Given the description of an element on the screen output the (x, y) to click on. 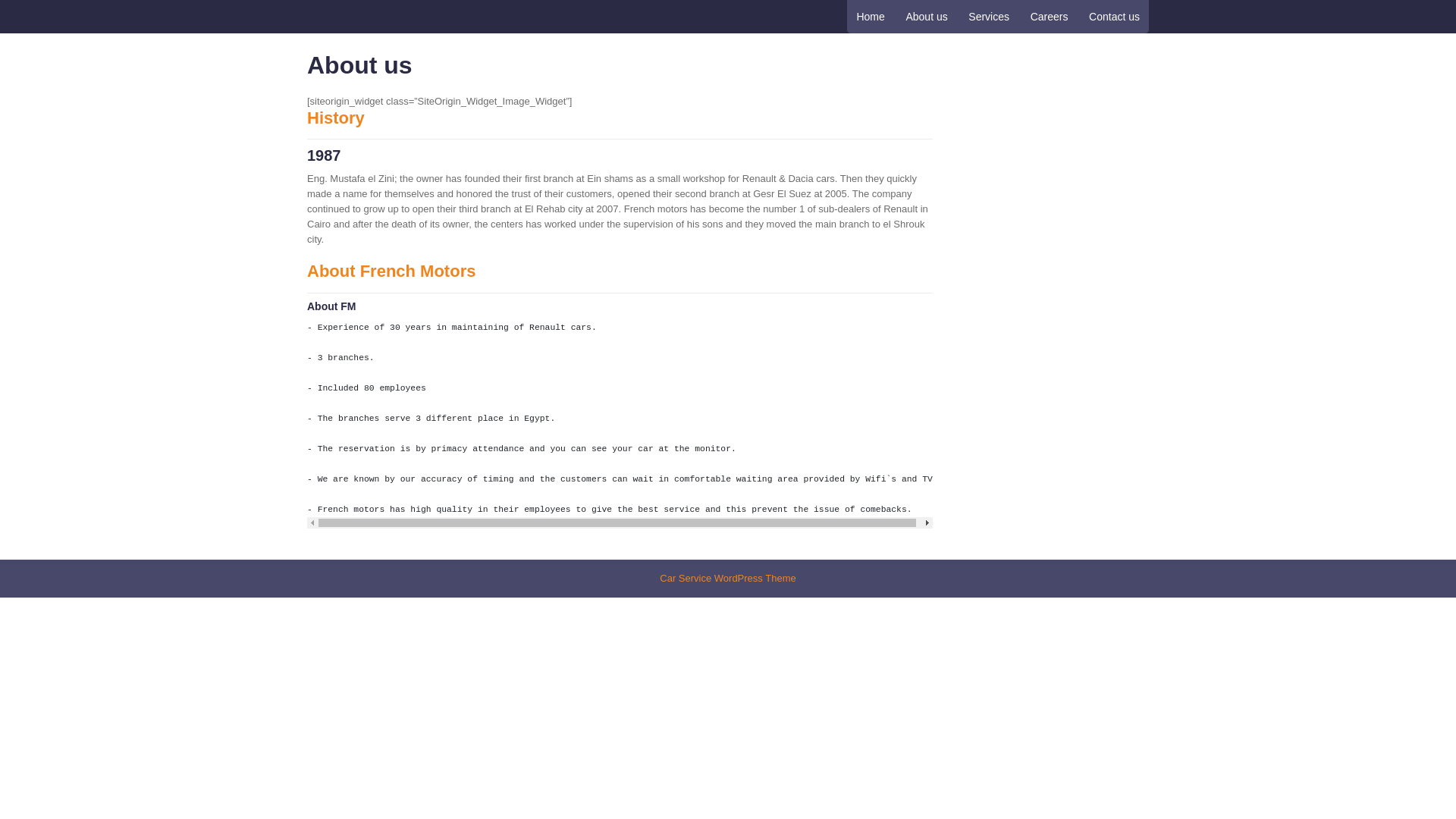
Contact us (1114, 16)
Car Service WordPress Theme (726, 577)
Home (870, 16)
About us (926, 16)
Careers (1049, 16)
Services (988, 16)
